Given the description of an element on the screen output the (x, y) to click on. 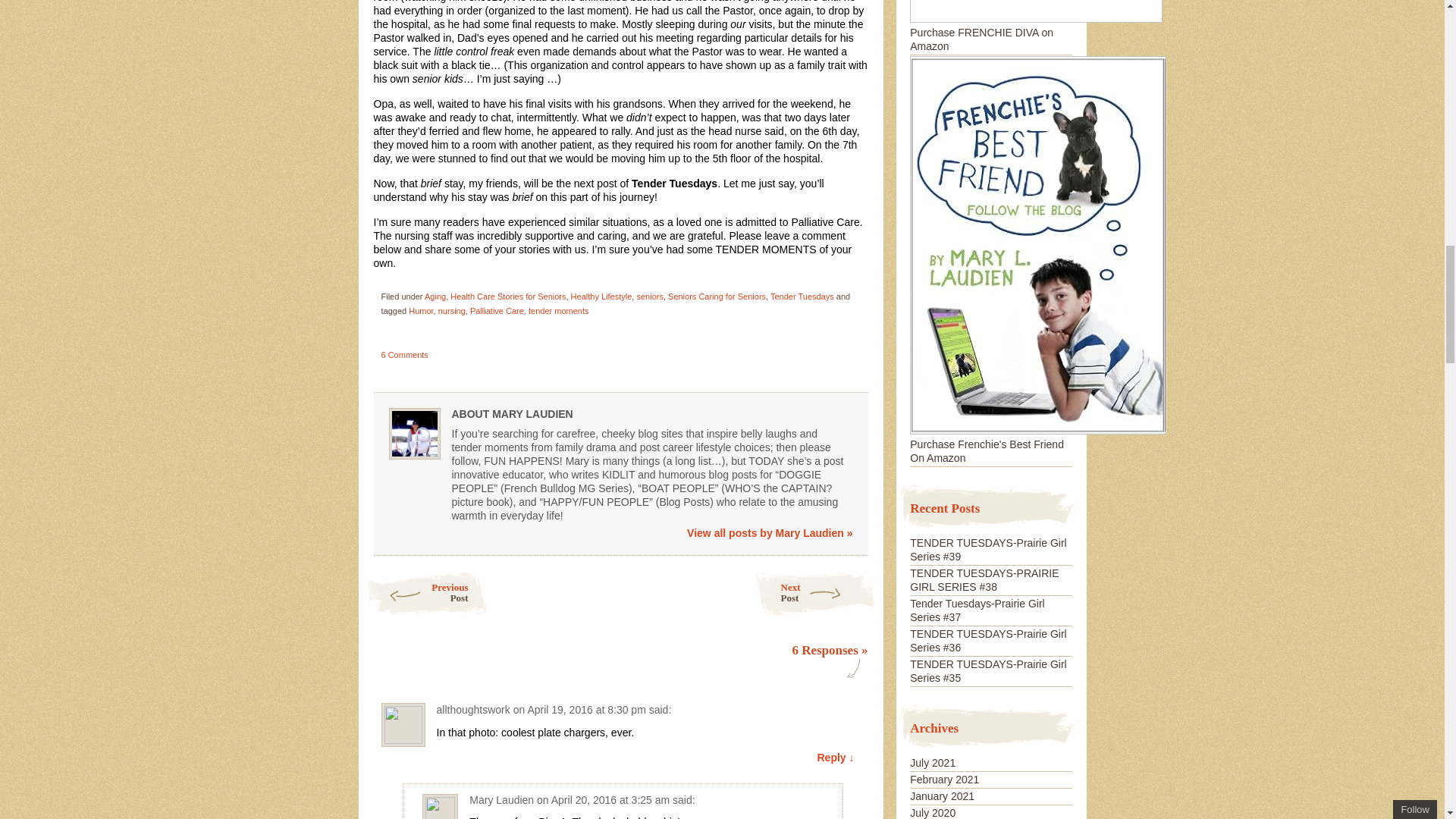
seniors (649, 296)
tender moments (558, 310)
Mary Laudien (501, 799)
April 19, 2016 at 8:30 pm (586, 709)
April 20, 2016 at 3:25 am (610, 799)
Tender Tuesdays (802, 296)
Humor (425, 593)
